Given the description of an element on the screen output the (x, y) to click on. 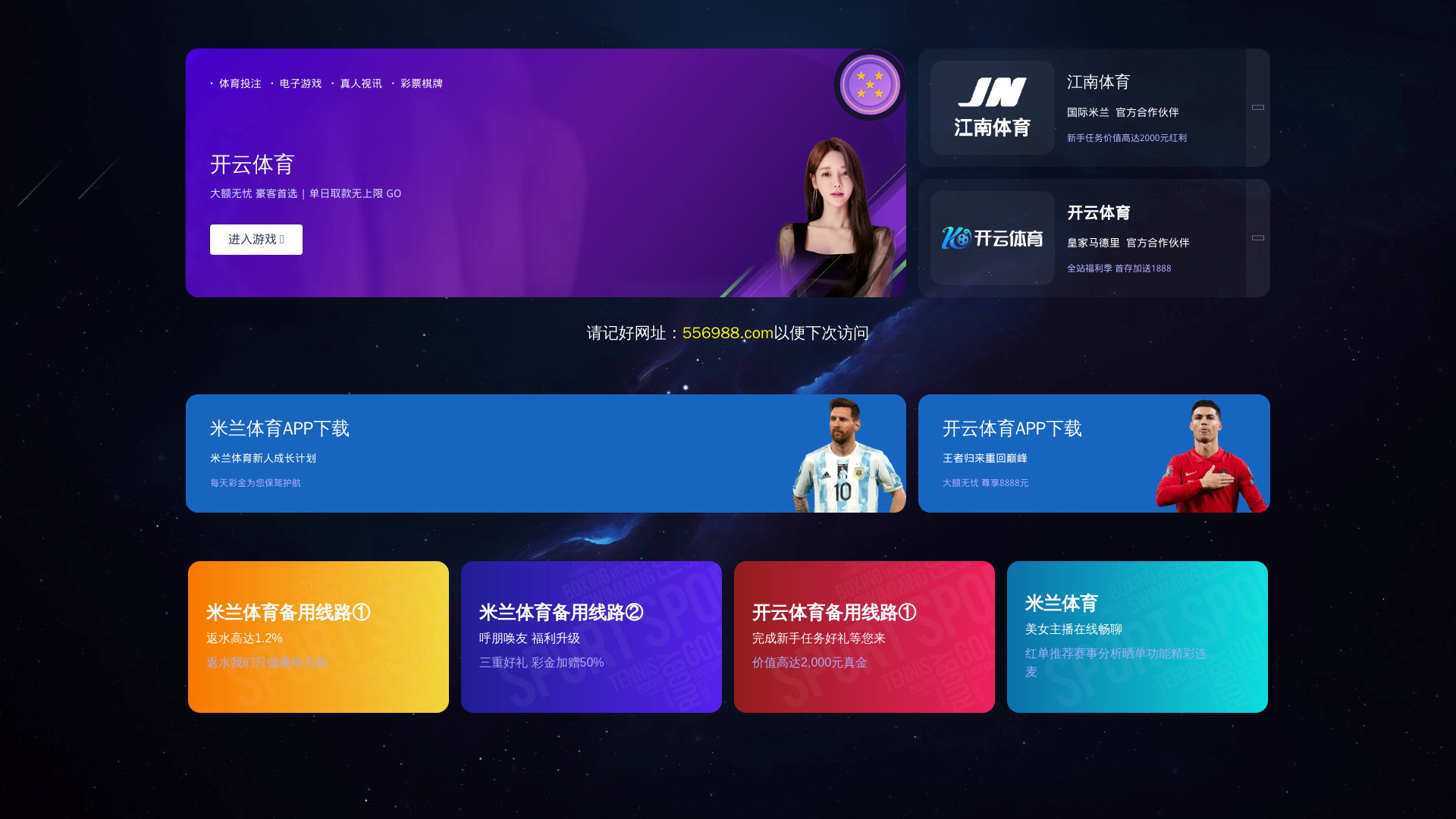
710-WD SERIES AC ELECTRIC HAULAGE SHEARER (273, 78)
More (204, 176)
1100-WD SERIES AC ELECTRIC HAULAGE SHEARER (273, 115)
Home (75, 101)
Products (441, 101)
News Center (75, 147)
Main Equipments (75, 192)
COAL SHEARER (252, 41)
Qualification (75, 238)
Contact Us (75, 306)
Products (75, 169)
Services (75, 283)
About NHI (75, 124)
